Given the description of an element on the screen output the (x, y) to click on. 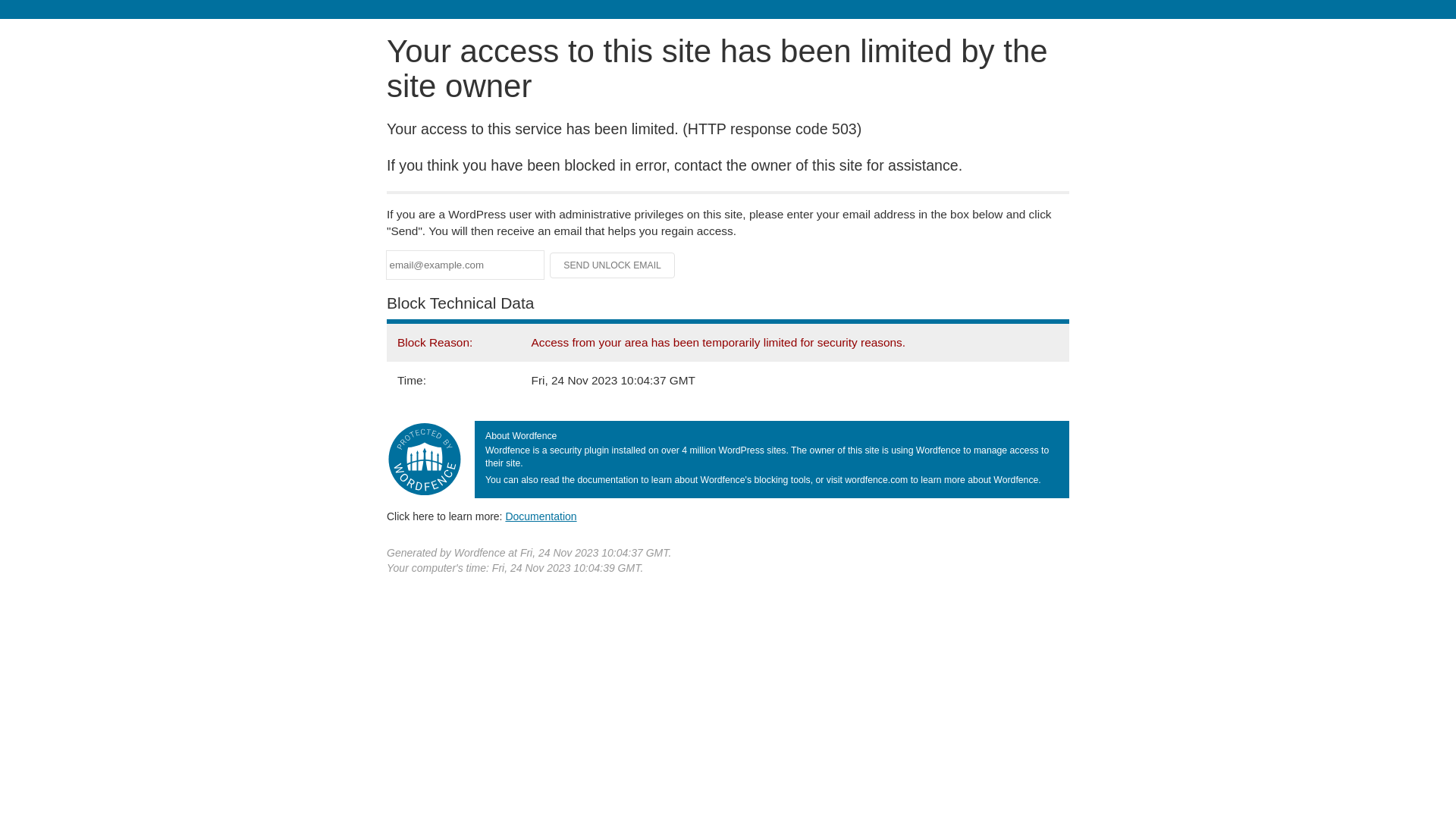
Documentation Element type: text (540, 516)
Send Unlock Email Element type: text (612, 265)
